Given the description of an element on the screen output the (x, y) to click on. 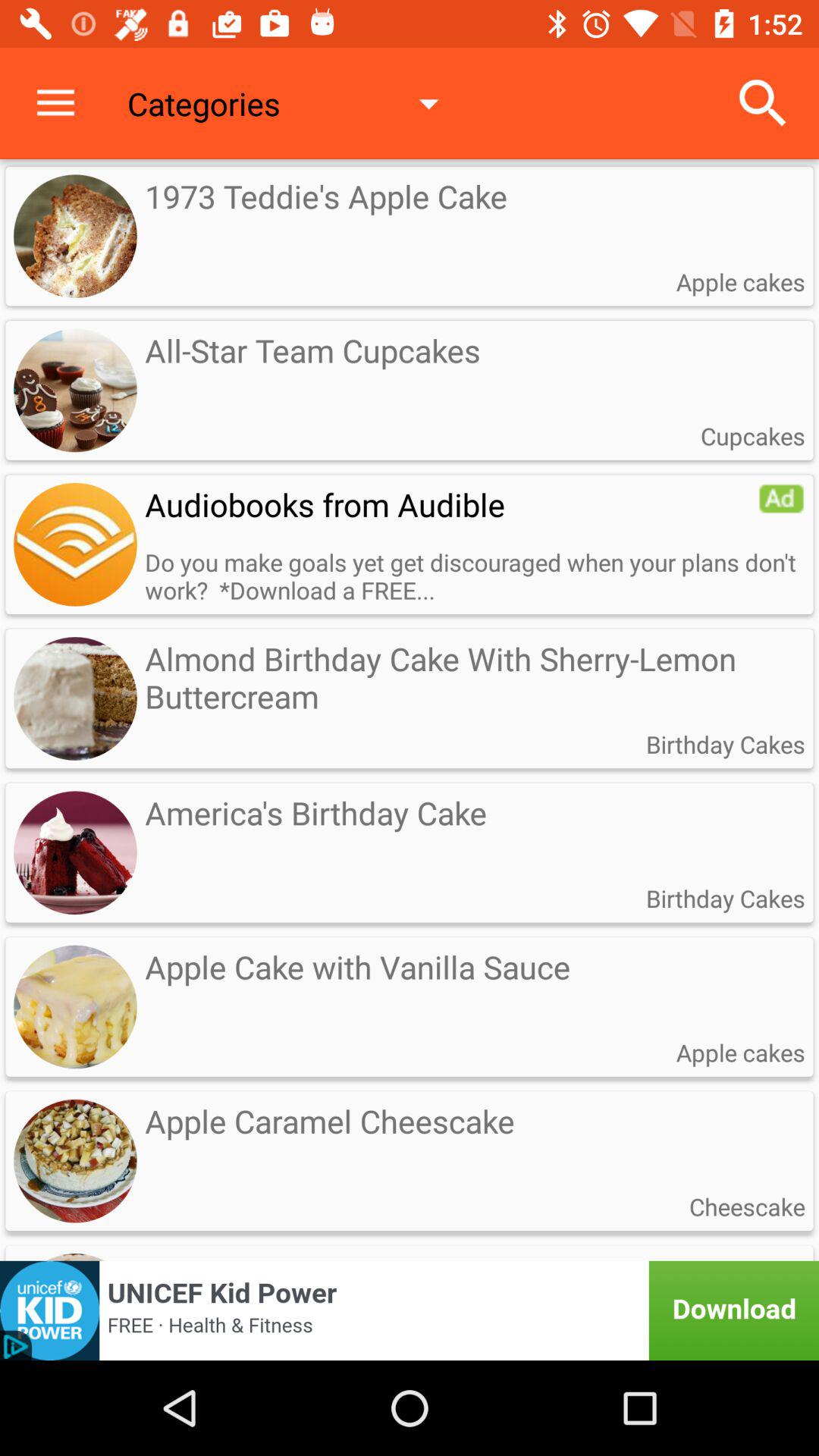
turn off the audiobooks from audible icon (451, 504)
